Given the description of an element on the screen output the (x, y) to click on. 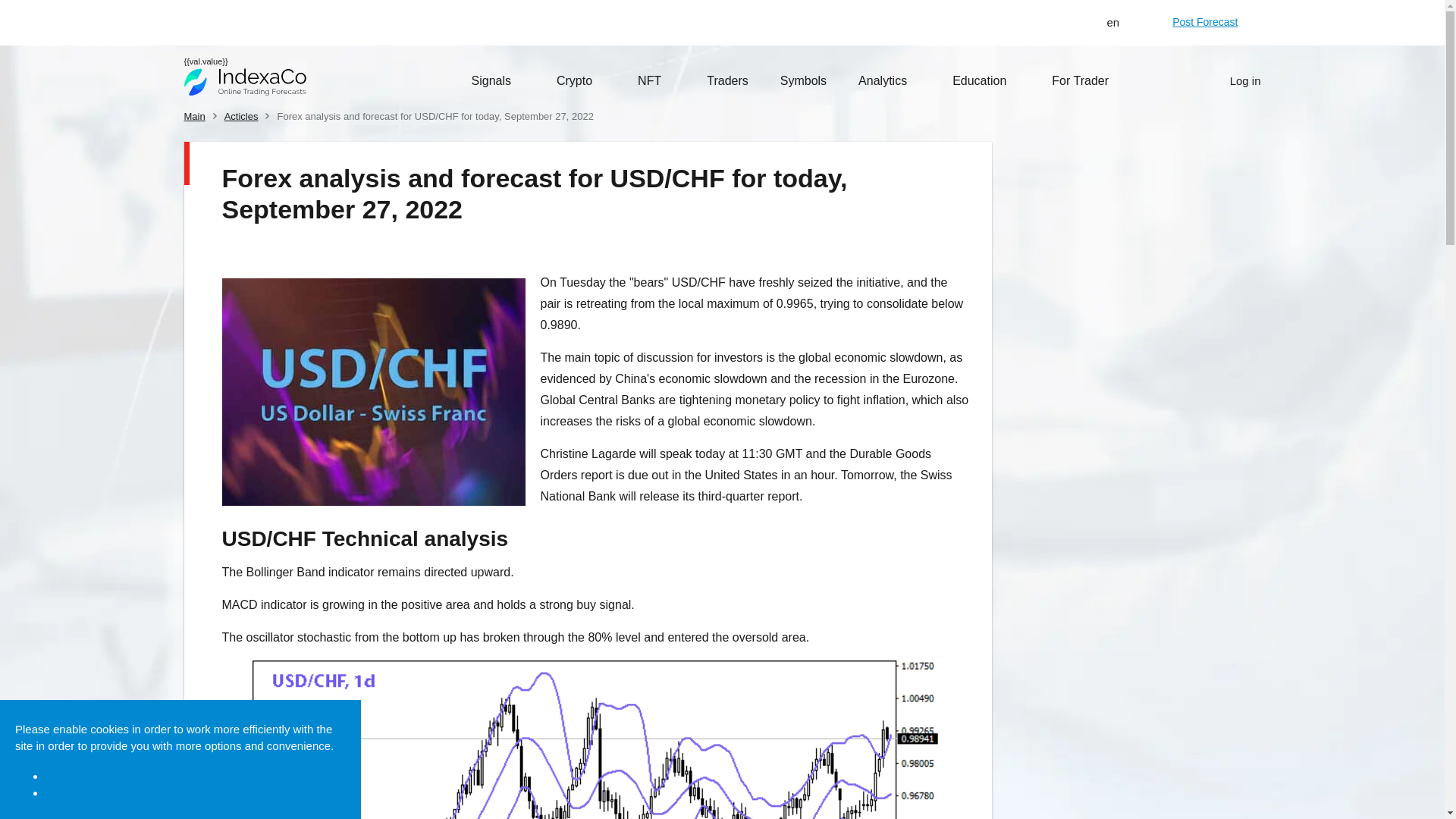
Symbols (803, 81)
Crypto (580, 81)
NFT (656, 81)
Post Forecast (1205, 22)
Signals (497, 81)
Traders (727, 81)
Analytics (889, 81)
